Given the description of an element on the screen output the (x, y) to click on. 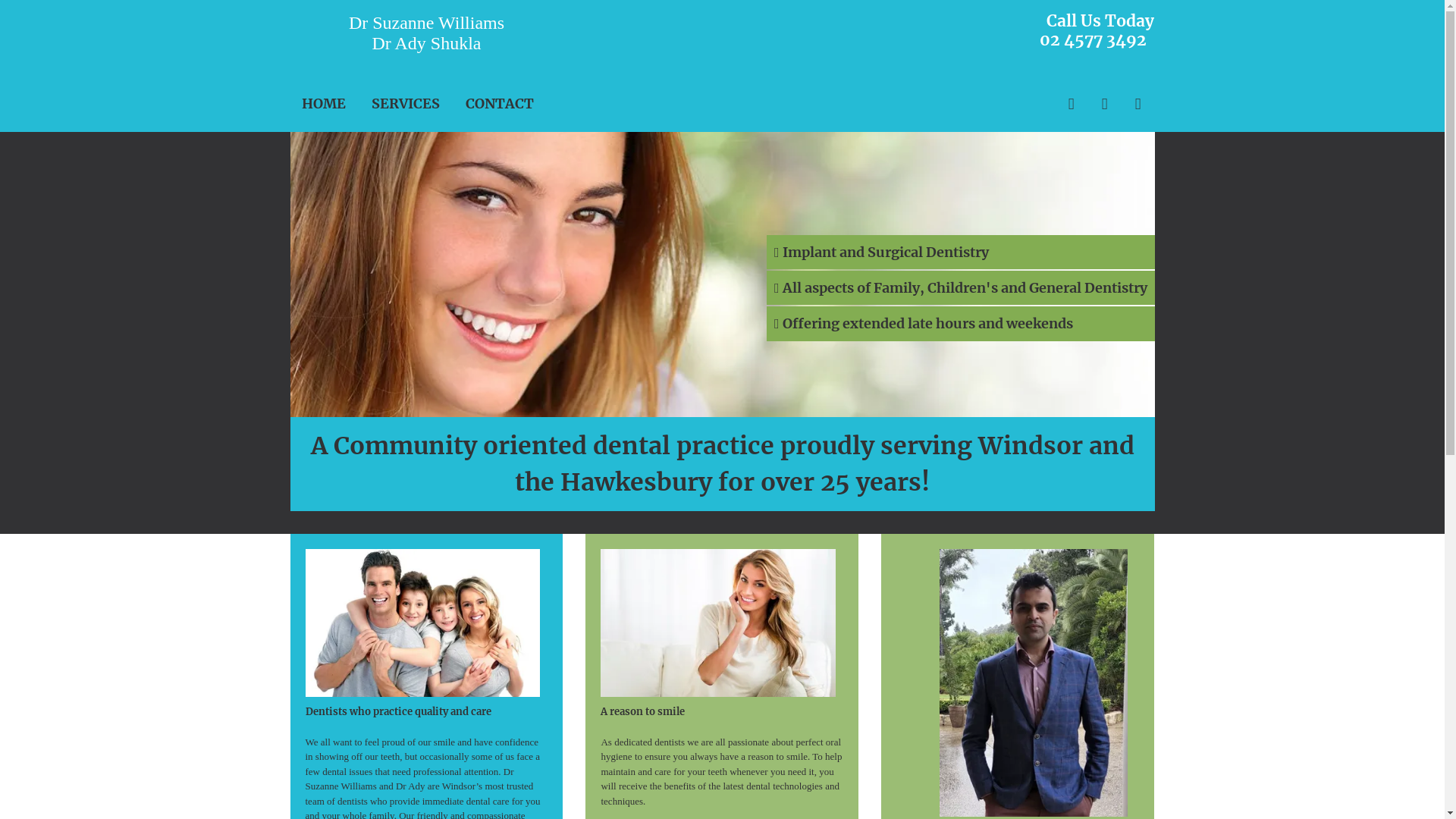
happy family Element type: hover (421, 622)
CONTACT Element type: text (499, 103)
02 4577 3492 Element type: text (1092, 39)
beautiful woman Element type: hover (721, 274)
SERVICES Element type: text (405, 103)
smiling woman Element type: hover (717, 622)
HOME Element type: text (323, 103)
